Given the description of an element on the screen output the (x, y) to click on. 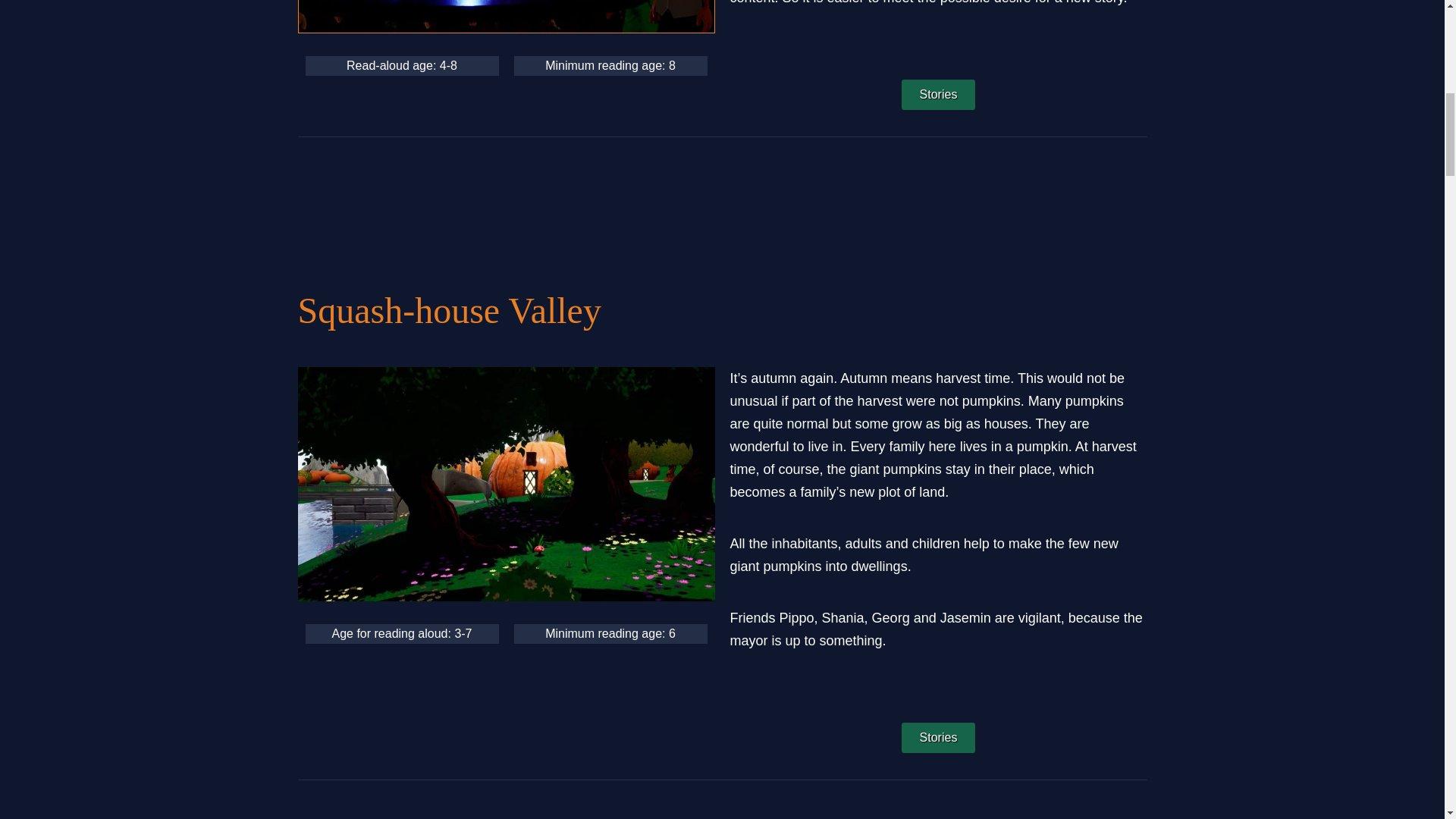
Stories (938, 94)
Stories (938, 737)
